Given the description of an element on the screen output the (x, y) to click on. 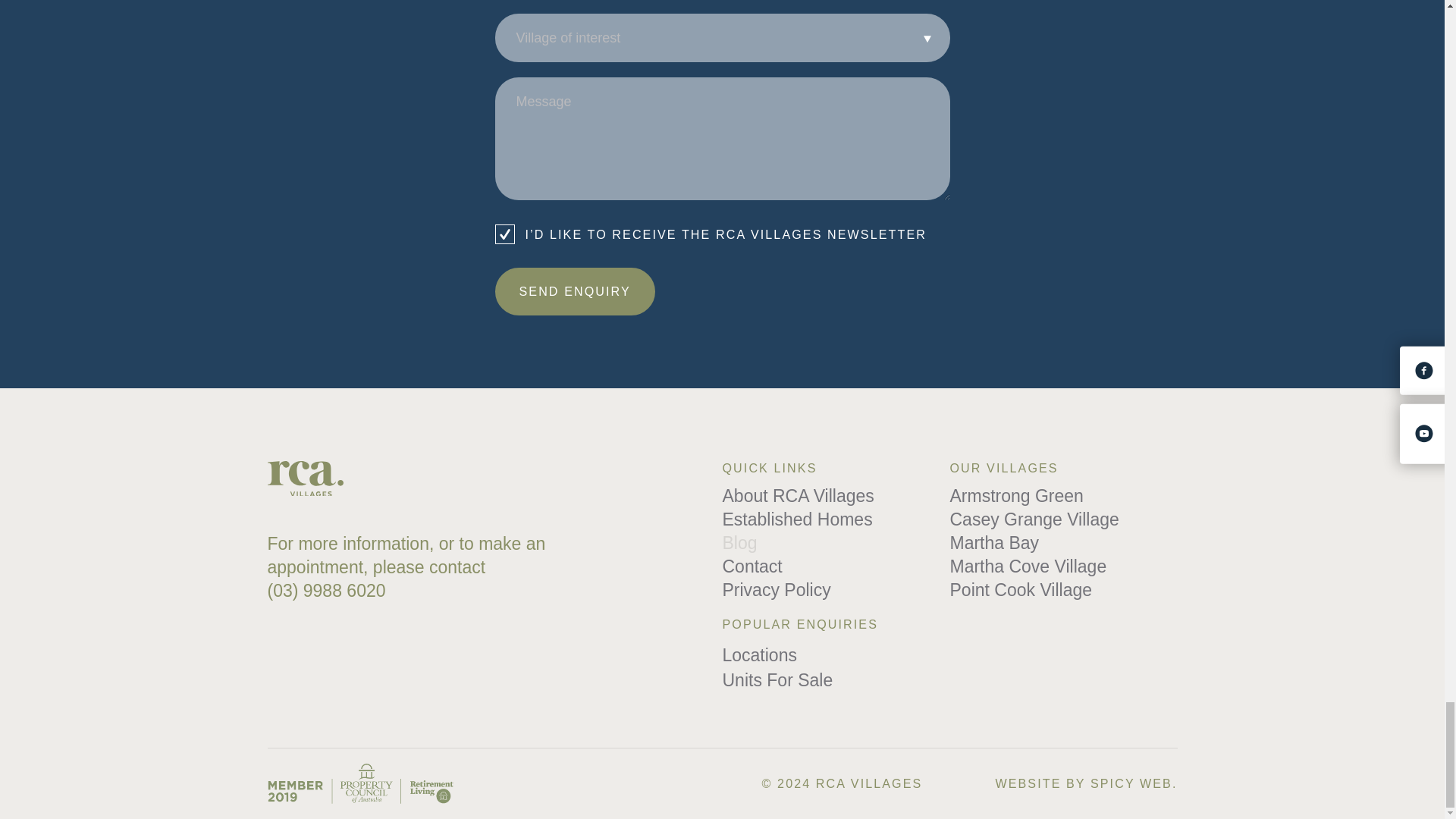
Blog (739, 542)
Established Homes (797, 519)
About RCA Villages (797, 496)
SEND ENQUIRY (574, 290)
Contact (751, 566)
